Given the description of an element on the screen output the (x, y) to click on. 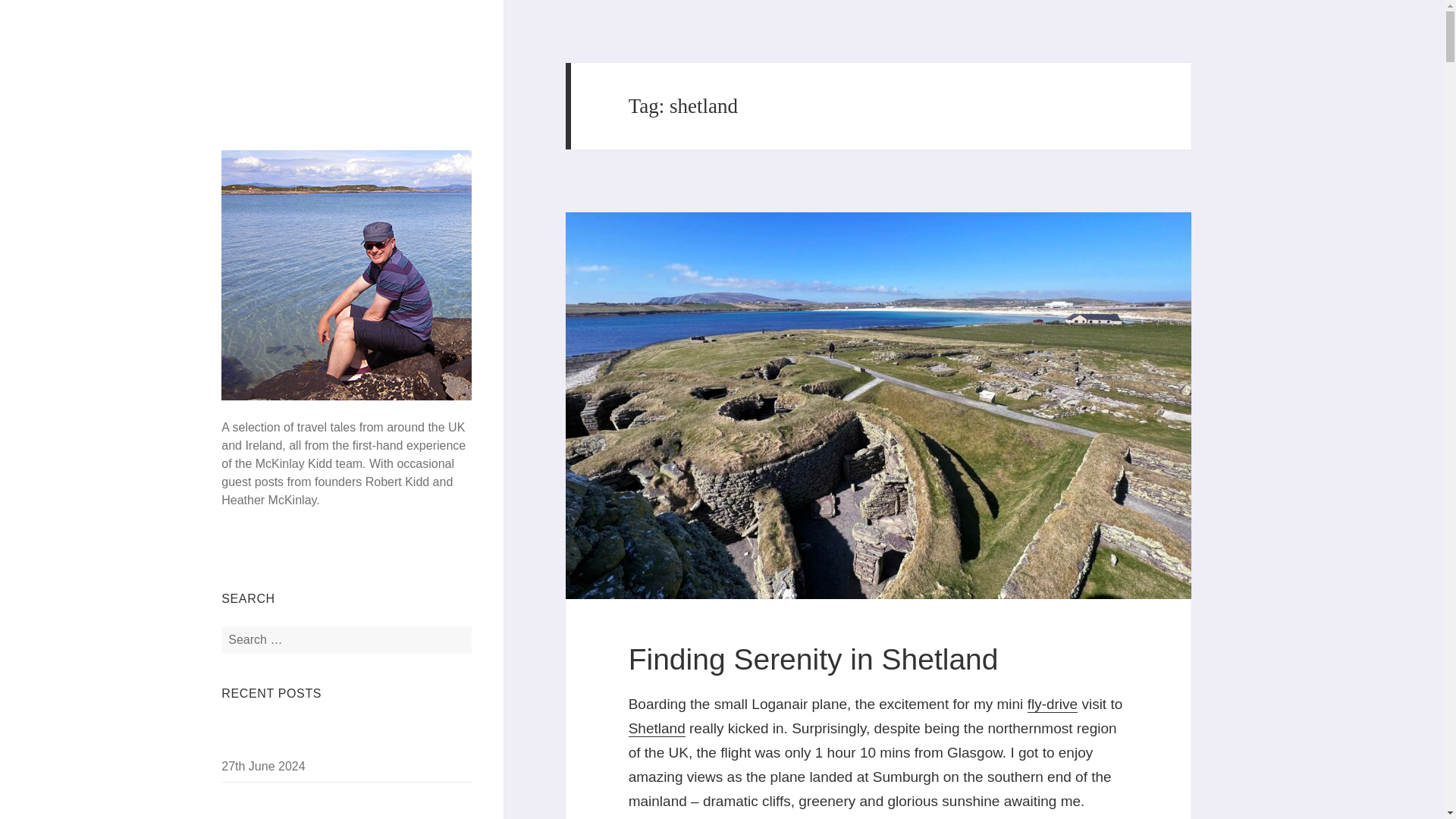
Visit our Facebook page (239, 558)
McKinlay Kidd (293, 51)
Twitter (301, 558)
Pinterest (333, 558)
Instagram (271, 558)
fly-drive (1052, 705)
Finding Serenity in Shetland (813, 660)
Shetland (656, 729)
